Given the description of an element on the screen output the (x, y) to click on. 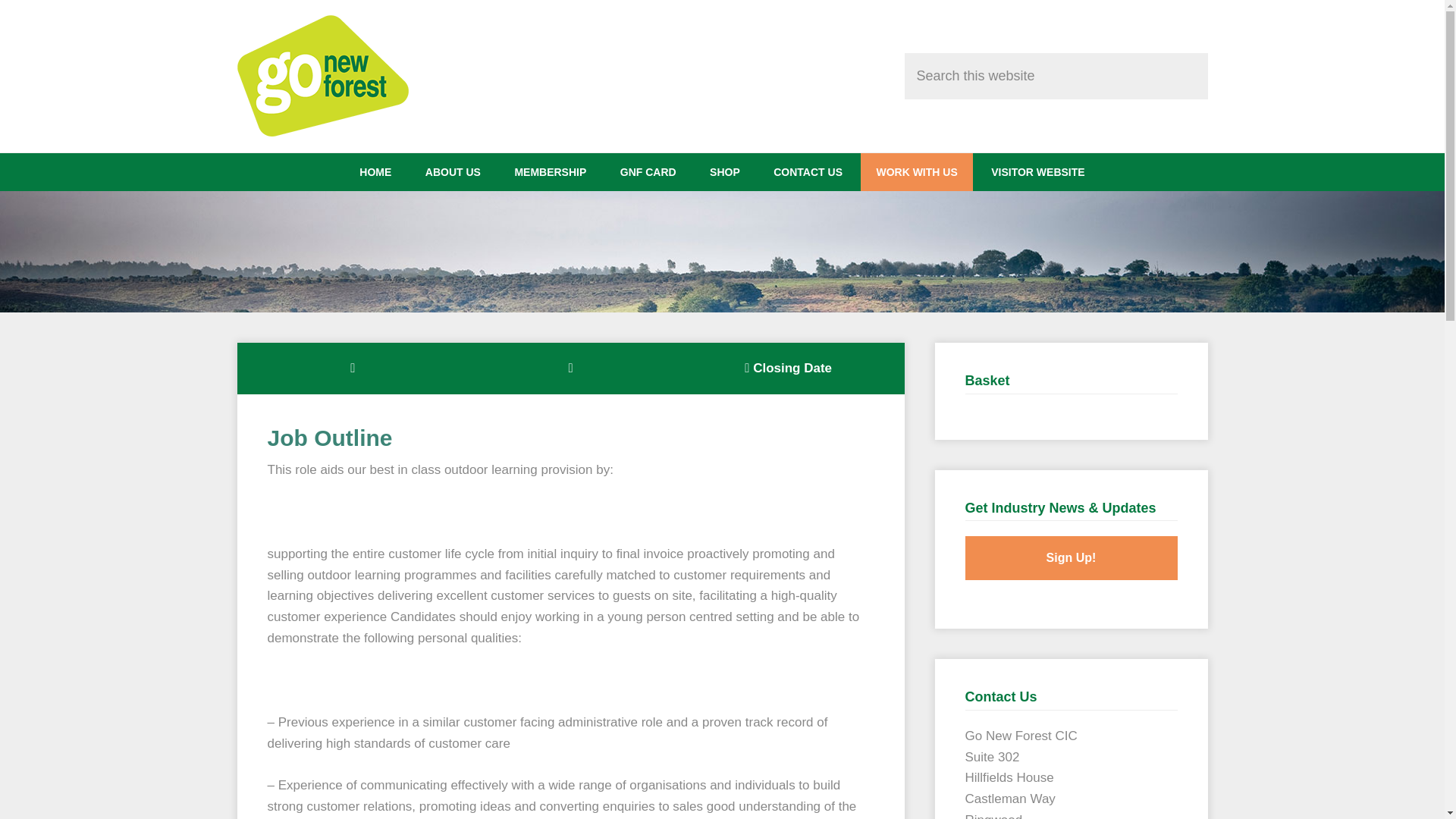
HOME (374, 171)
WORK WITH US (916, 171)
Sign Up! (1069, 557)
GNF CARD (648, 171)
SHOP (724, 171)
VISITOR WEBSITE (1037, 171)
ABOUT US (453, 171)
Go New Forest (349, 75)
